Given the description of an element on the screen output the (x, y) to click on. 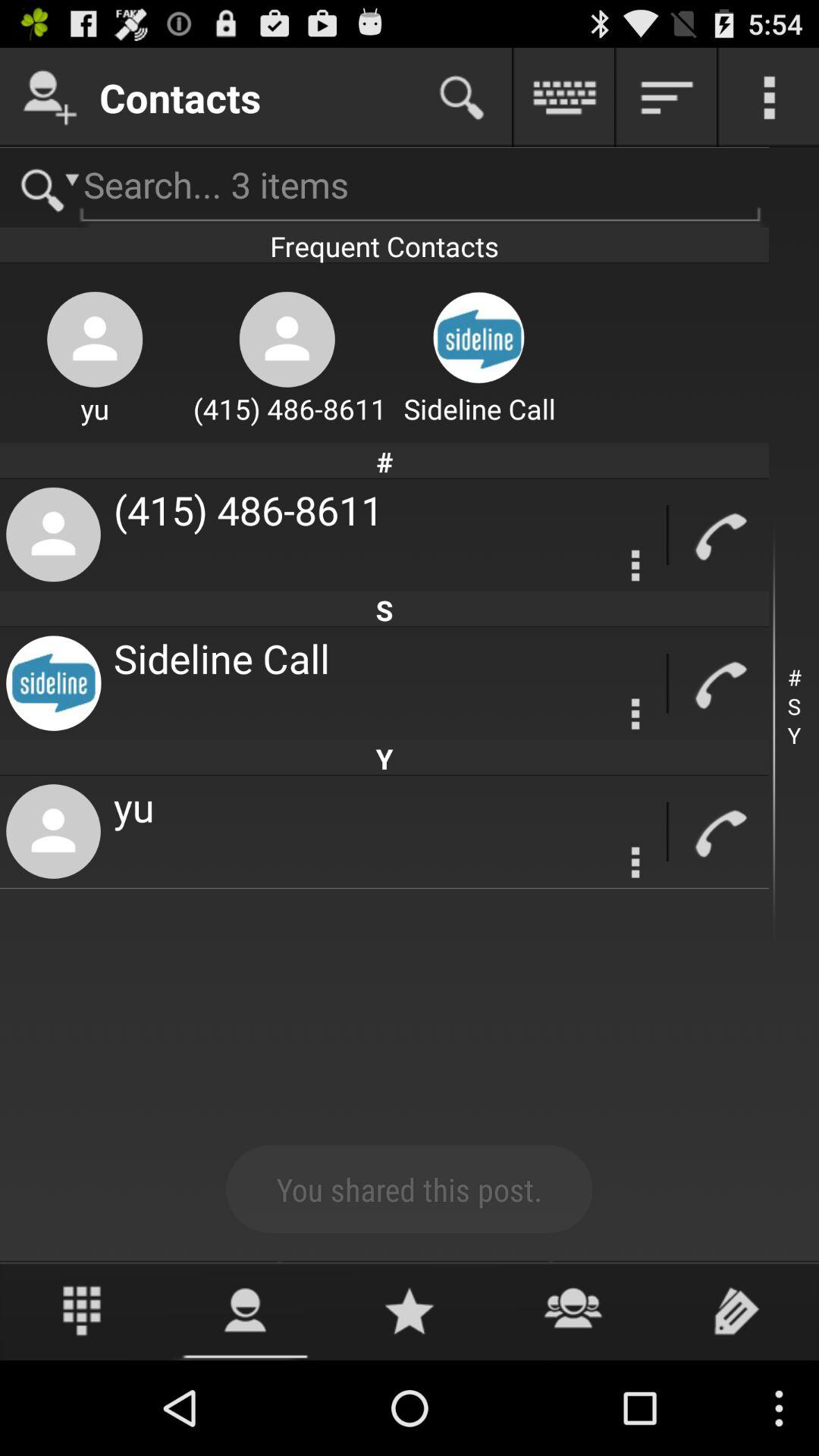
add tags (737, 1310)
